Given the description of an element on the screen output the (x, y) to click on. 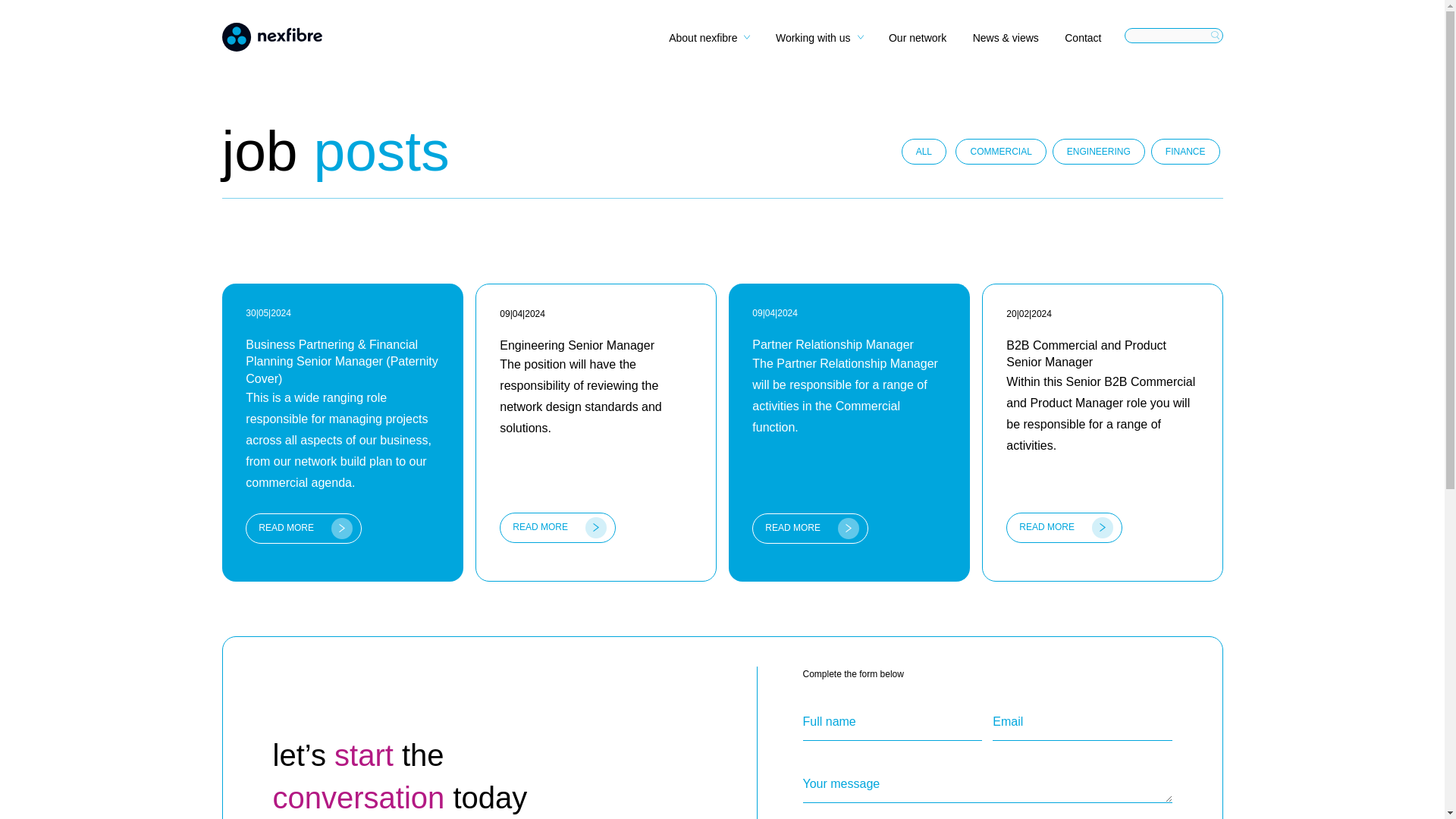
Contact (1082, 41)
READ MORE (557, 527)
Our network (917, 41)
ENGINEERING (1098, 151)
Working with us (819, 41)
ALL (923, 151)
READ MORE (1064, 527)
READ MORE (809, 528)
READ MORE (303, 528)
FINANCE (1185, 151)
About nexfibre (708, 41)
COMMERCIAL (1000, 151)
